Given the description of an element on the screen output the (x, y) to click on. 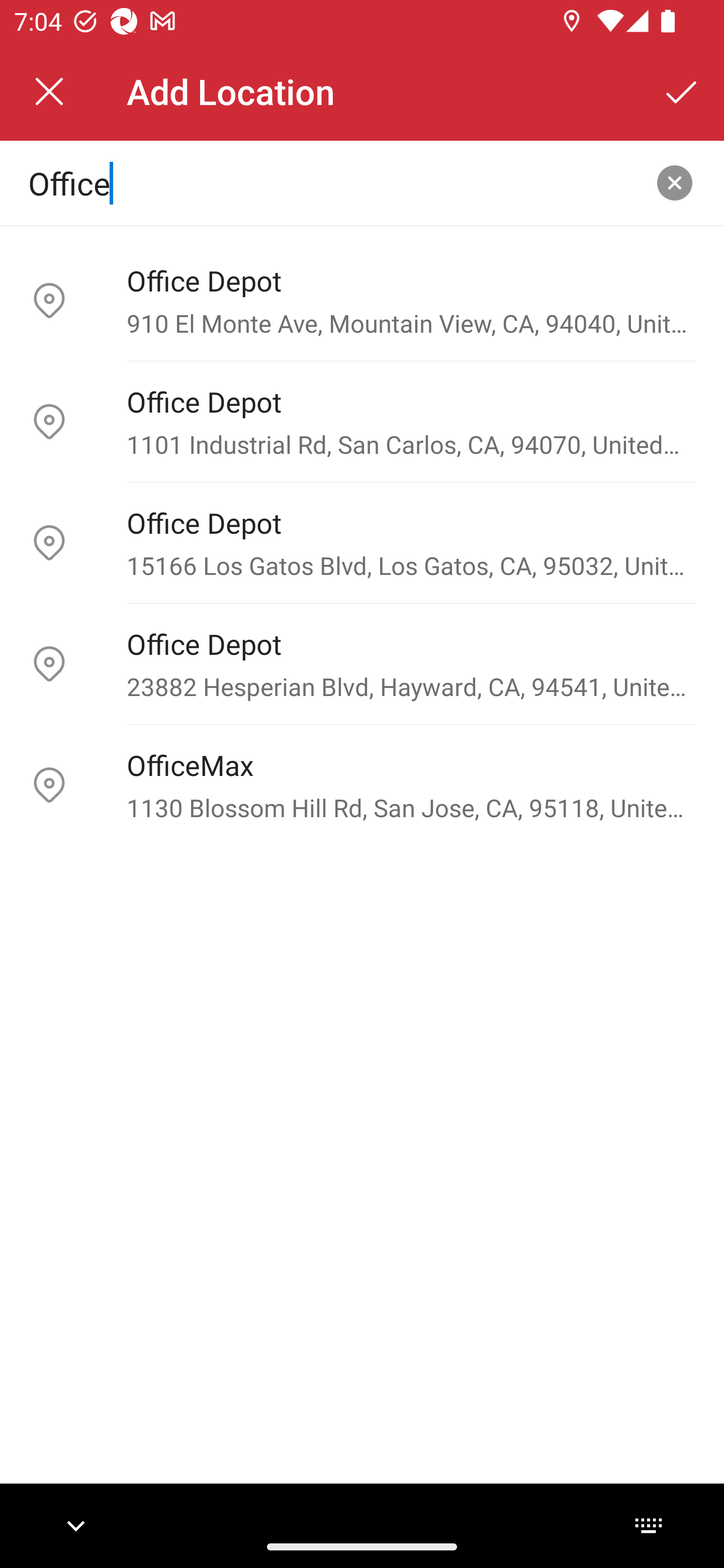
Close (49, 91)
Done (681, 91)
Clear location (674, 183)
Office (330, 182)
